Given the description of an element on the screen output the (x, y) to click on. 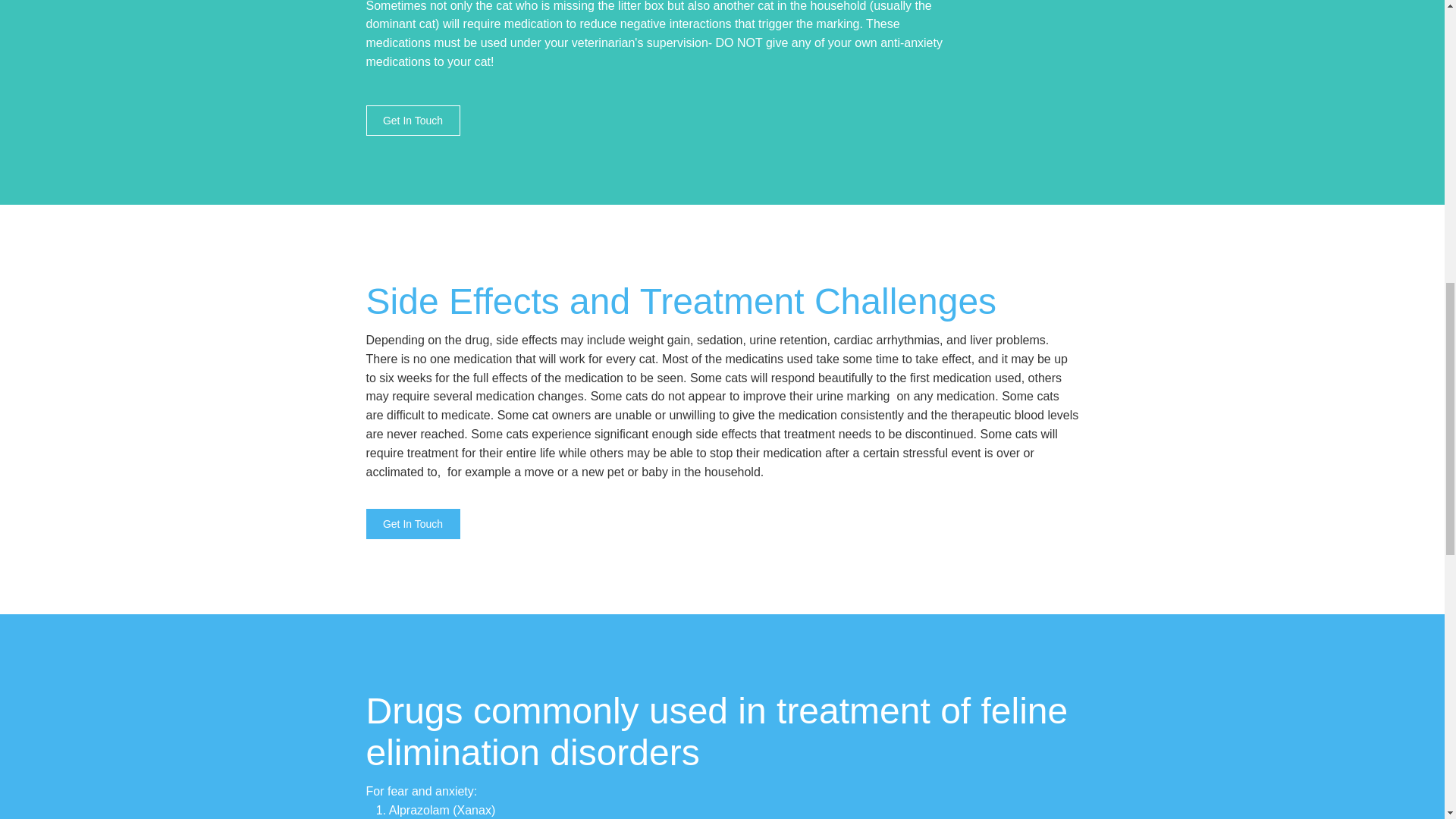
Get In Touch (412, 523)
Get In Touch (412, 120)
